Given the description of an element on the screen output the (x, y) to click on. 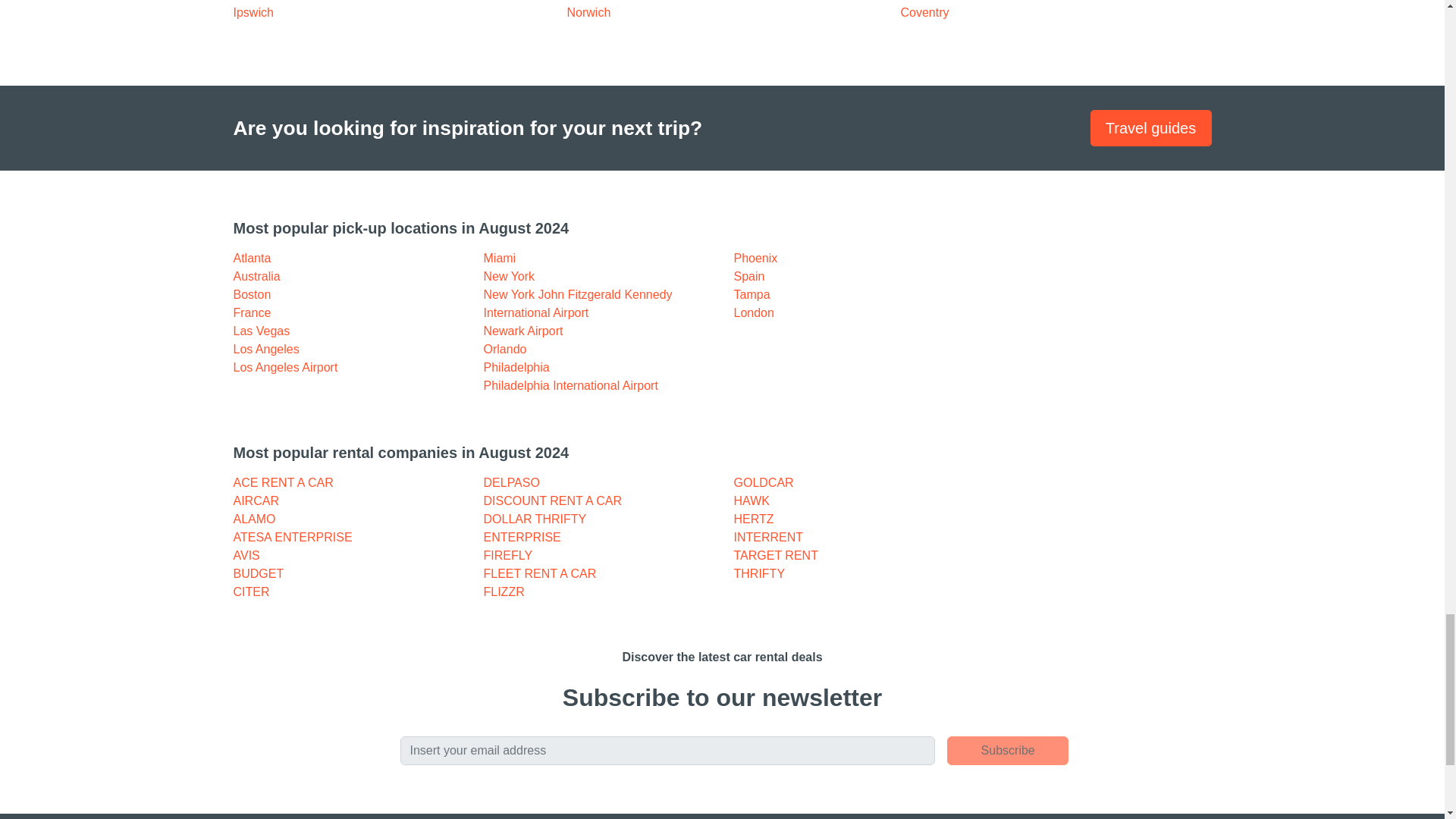
Australia (256, 276)
ACE RENT A CAR (282, 481)
New York John Fitzgerald Kennedy International Airport (577, 303)
Miami (499, 257)
Las Vegas (260, 330)
France (251, 312)
Boston (251, 294)
Los Angeles (265, 349)
Coventry (925, 11)
Orlando (505, 349)
